Given the description of an element on the screen output the (x, y) to click on. 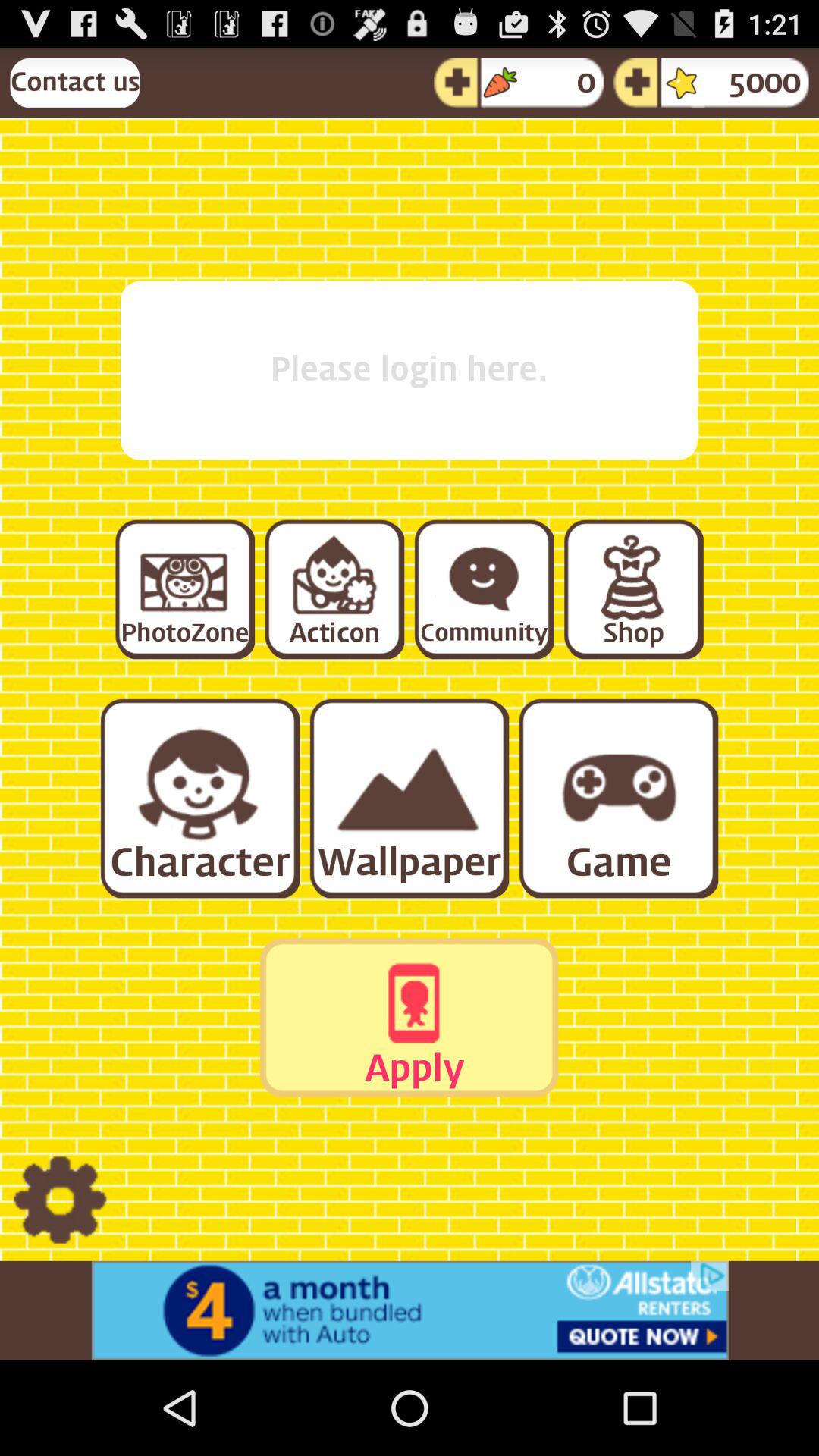
community (483, 588)
